Given the description of an element on the screen output the (x, y) to click on. 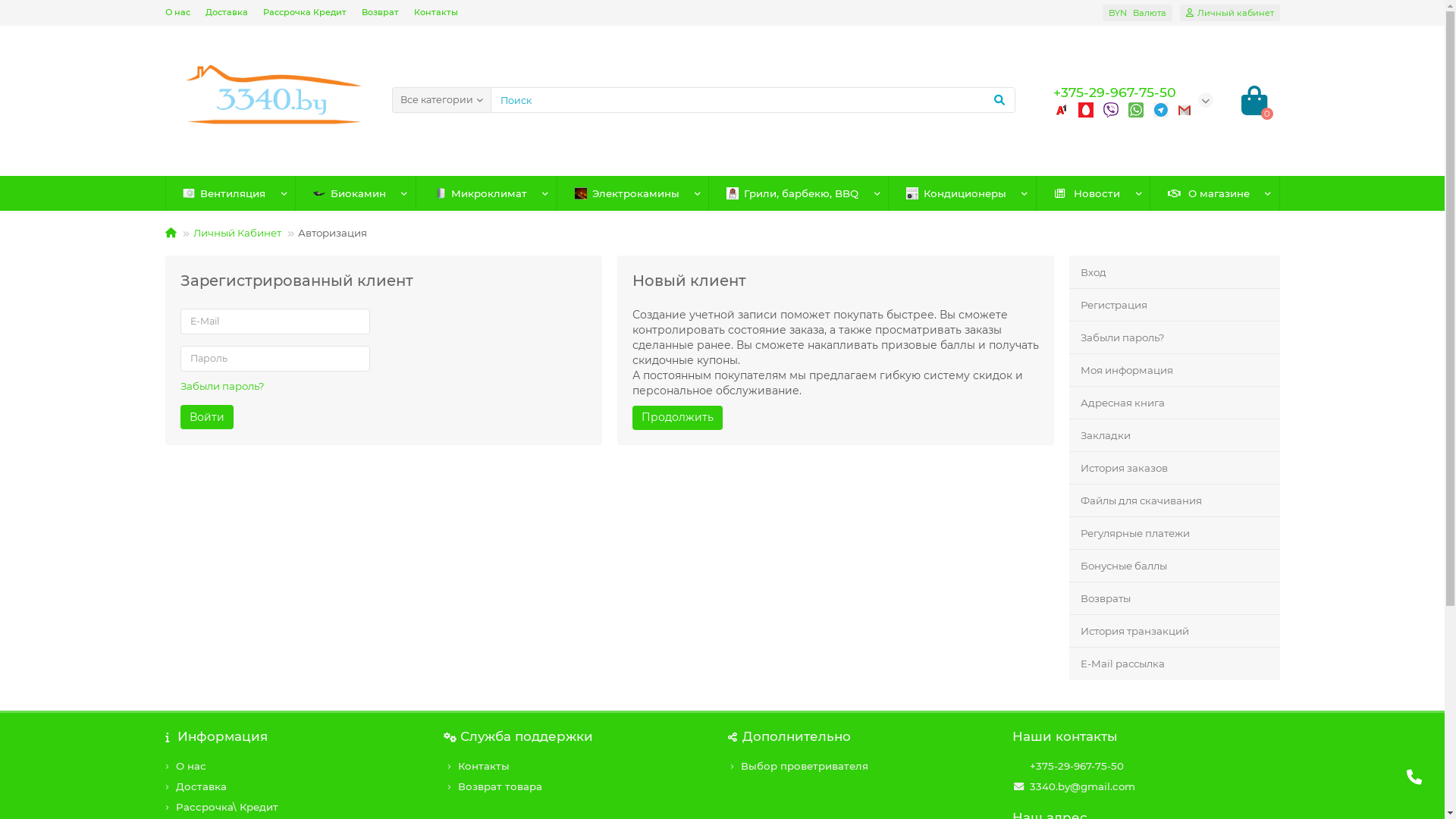
3340.by@gmail.com Element type: text (1082, 786)
+375-29-967-75-50 Element type: text (1076, 766)
0 Element type: text (1253, 100)
